Given the description of an element on the screen output the (x, y) to click on. 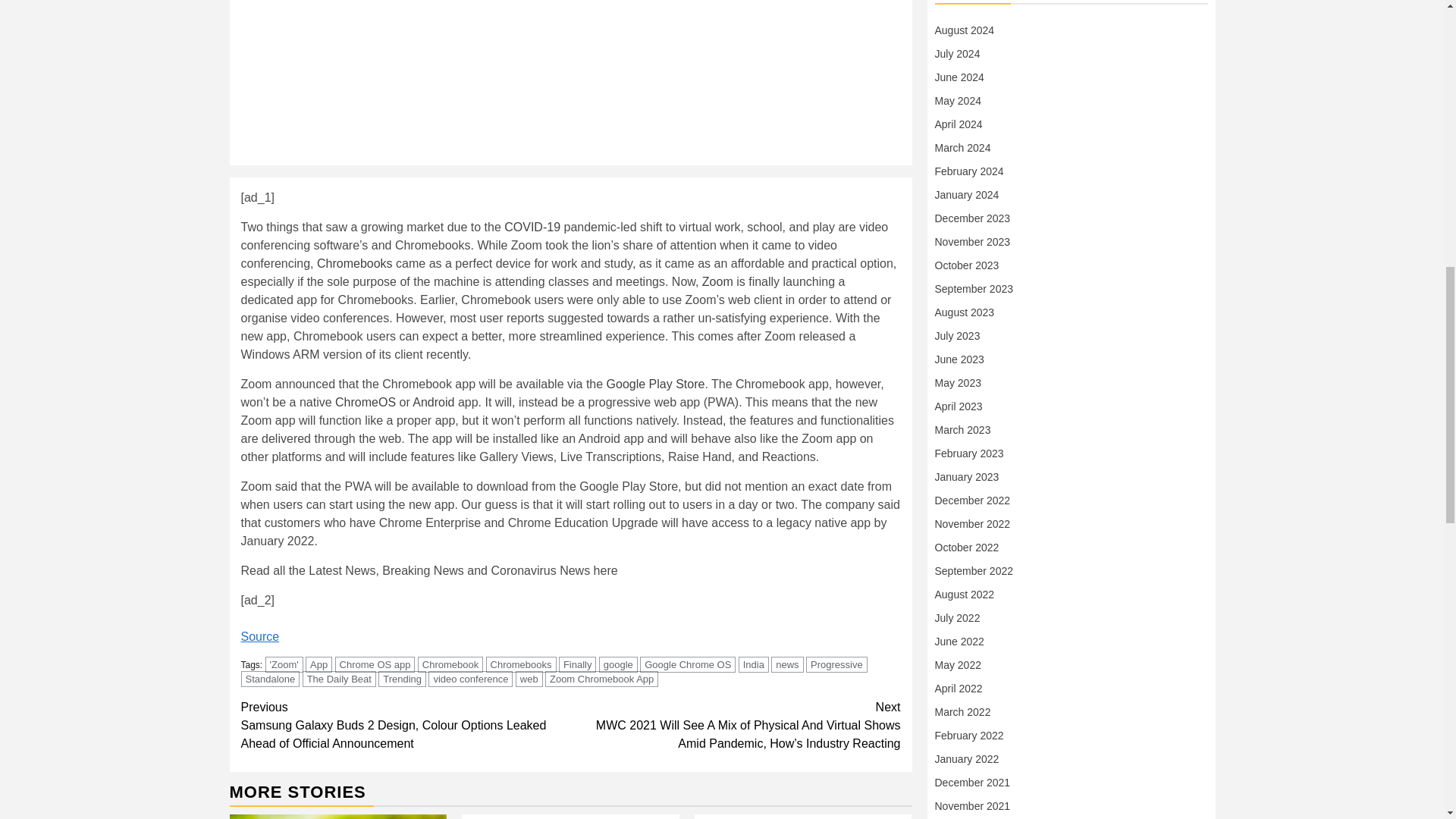
'Zoom' (283, 664)
Chromebooks (521, 664)
Google Play Store (655, 383)
Chromebooks (355, 263)
Chrome OS app (374, 664)
The Daily Beat (338, 678)
Android (433, 401)
news (787, 664)
App (318, 664)
ChromeOS (365, 401)
